Given the description of an element on the screen output the (x, y) to click on. 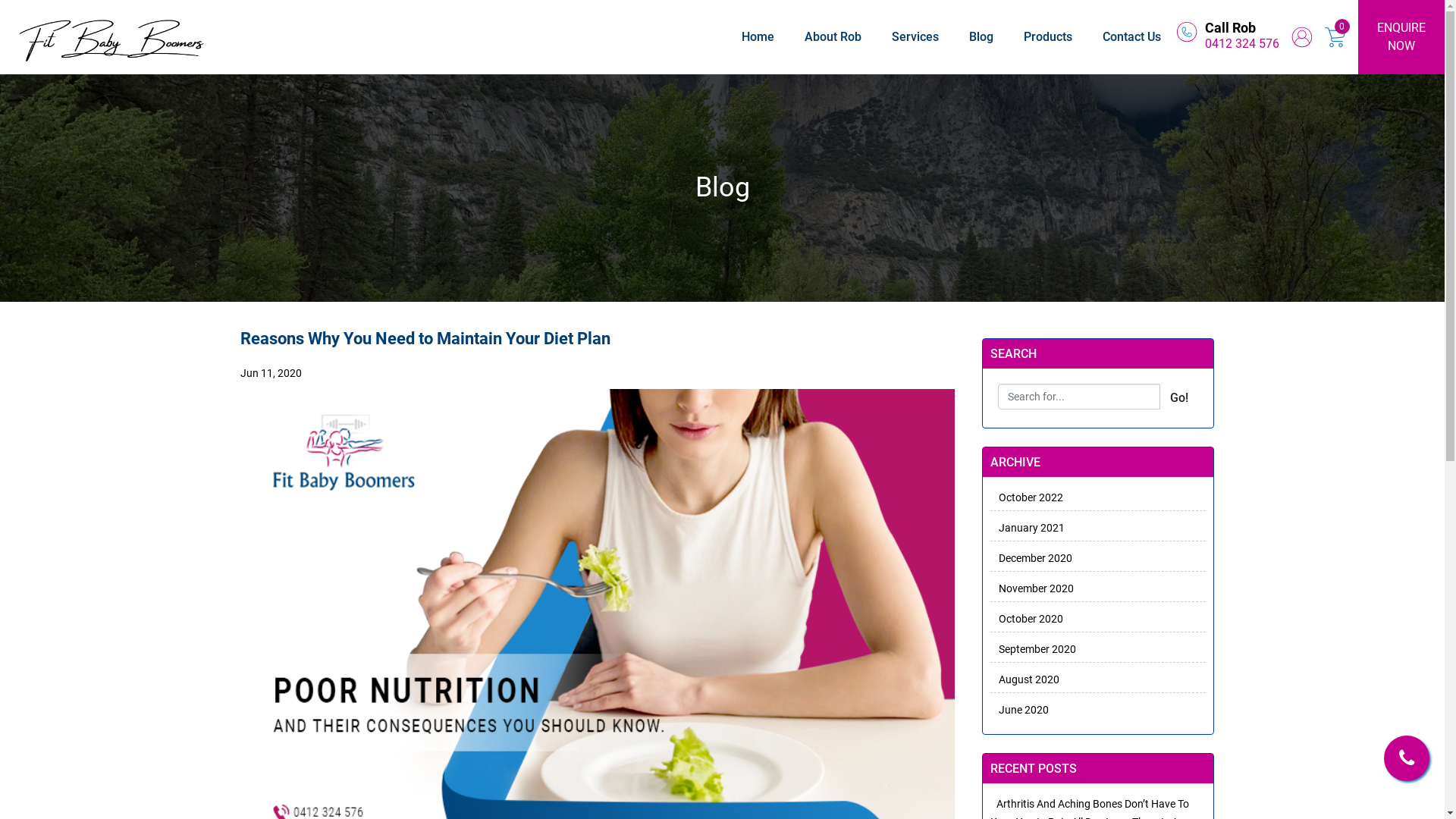
August 2020 Element type: text (1024, 679)
Contact Us Element type: text (1131, 36)
Blog Element type: text (981, 36)
October 2020 Element type: text (1026, 618)
Fitbabyboomers Element type: hover (1186, 31)
About Rob Element type: text (832, 36)
October 2022 Element type: text (1026, 497)
0 Element type: text (1341, 26)
Go! Element type: text (1179, 397)
ENQUIRE
NOW Element type: text (1401, 36)
Services Element type: text (914, 36)
June 2020 Element type: text (1019, 709)
November 2020 Element type: text (1031, 588)
September 2020 Element type: text (1033, 649)
Home Element type: text (757, 36)
0412 324 576 Element type: text (1241, 43)
Fitbabyboomers Element type: hover (112, 36)
Products Element type: text (1047, 36)
December 2020 Element type: text (1031, 558)
January 2021 Element type: text (1027, 527)
